Given the description of an element on the screen output the (x, y) to click on. 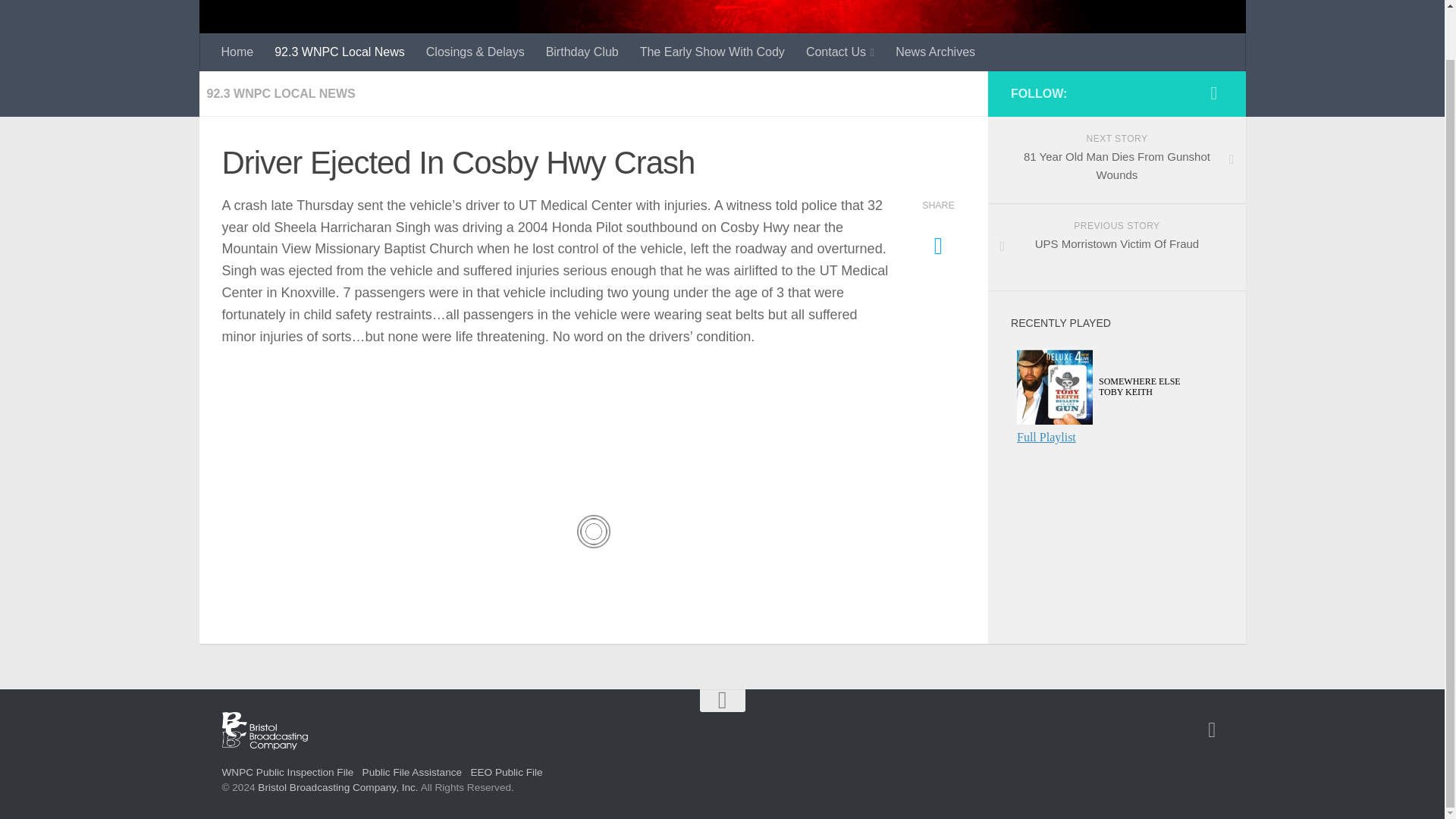
Public File Assistance (411, 772)
EEO Public File (505, 772)
92.3 WNPC LOCAL NEWS (280, 92)
Follow us on Facebook (1213, 93)
Birthday Club (581, 52)
News Archives (1115, 247)
Follow us on Facebook (935, 52)
Home (1212, 730)
